Given the description of an element on the screen output the (x, y) to click on. 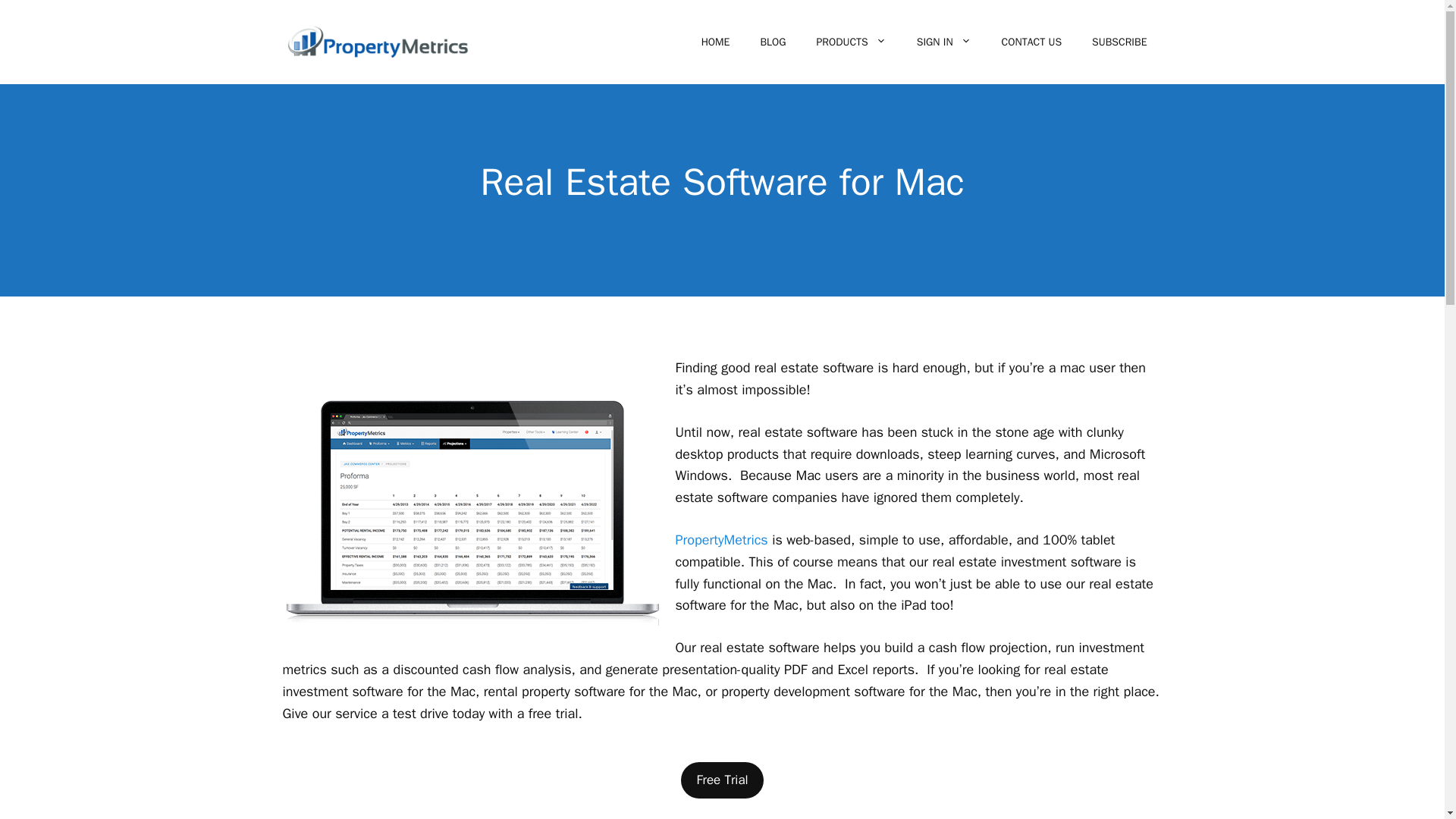
BLOG (772, 42)
CONTACT US (1032, 42)
Free Trial (721, 779)
PRODUCTS (851, 42)
SIGN IN (944, 42)
HOME (715, 42)
PropertyMetrics (721, 539)
SUBSCRIBE (1119, 42)
